Given the description of an element on the screen output the (x, y) to click on. 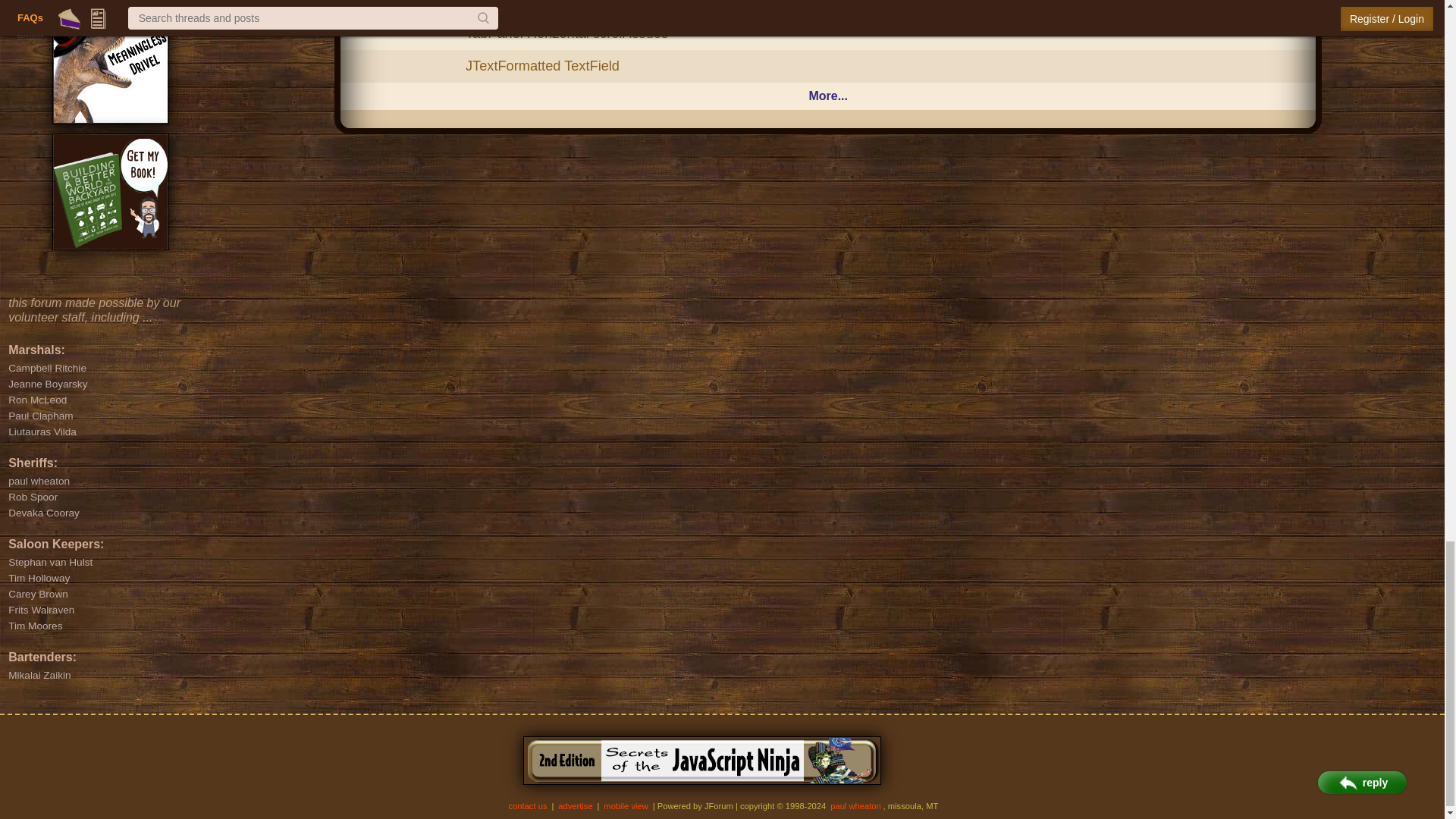
mobile view (626, 805)
